Given the description of an element on the screen output the (x, y) to click on. 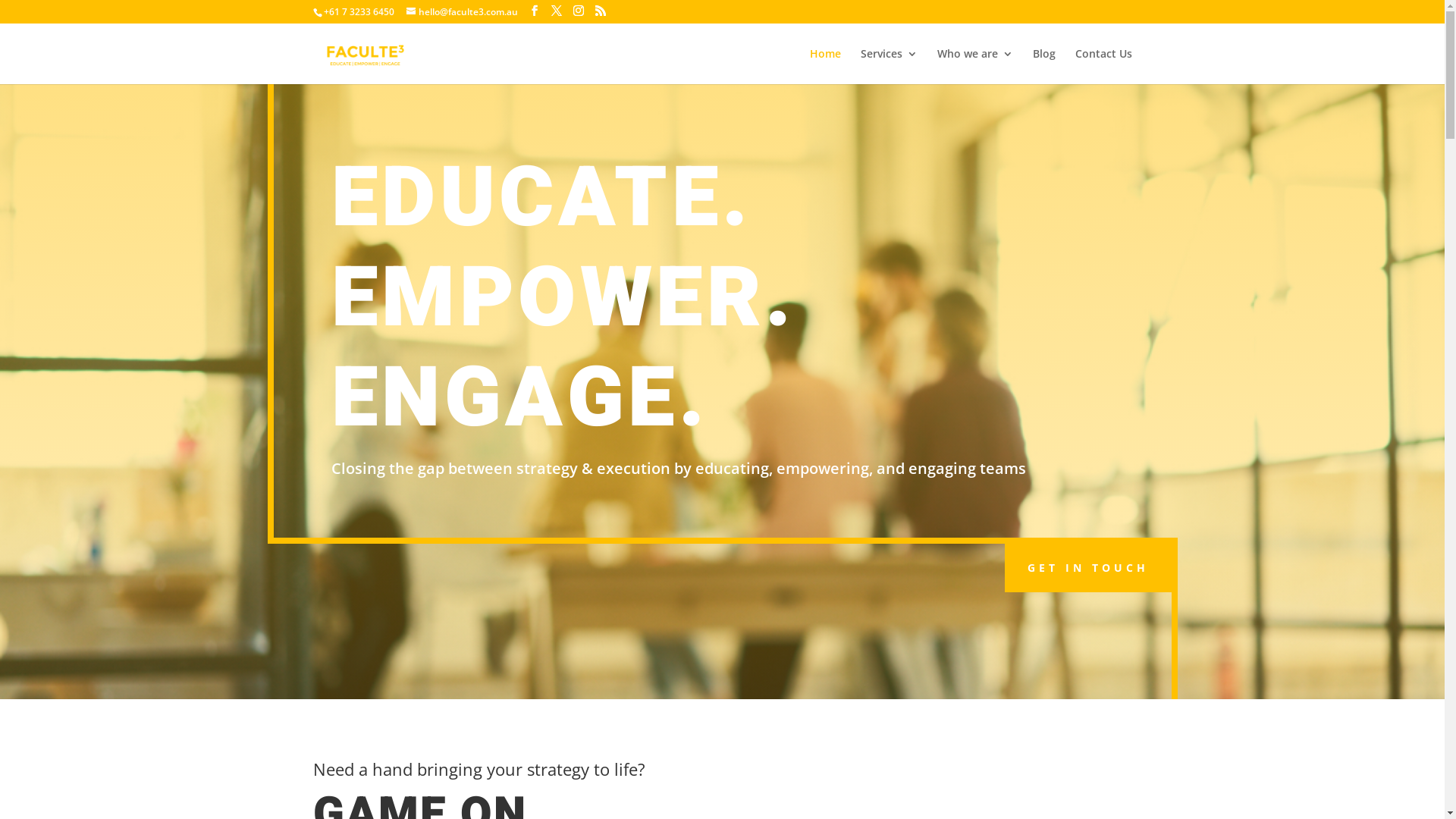
Home Element type: text (824, 66)
hello@faculte3.com.au Element type: text (461, 11)
Contact Us Element type: text (1103, 66)
Services Element type: text (887, 66)
Blog Element type: text (1043, 66)
GET IN TOUCH Element type: text (1087, 567)
Who we are Element type: text (975, 66)
